Given the description of an element on the screen output the (x, y) to click on. 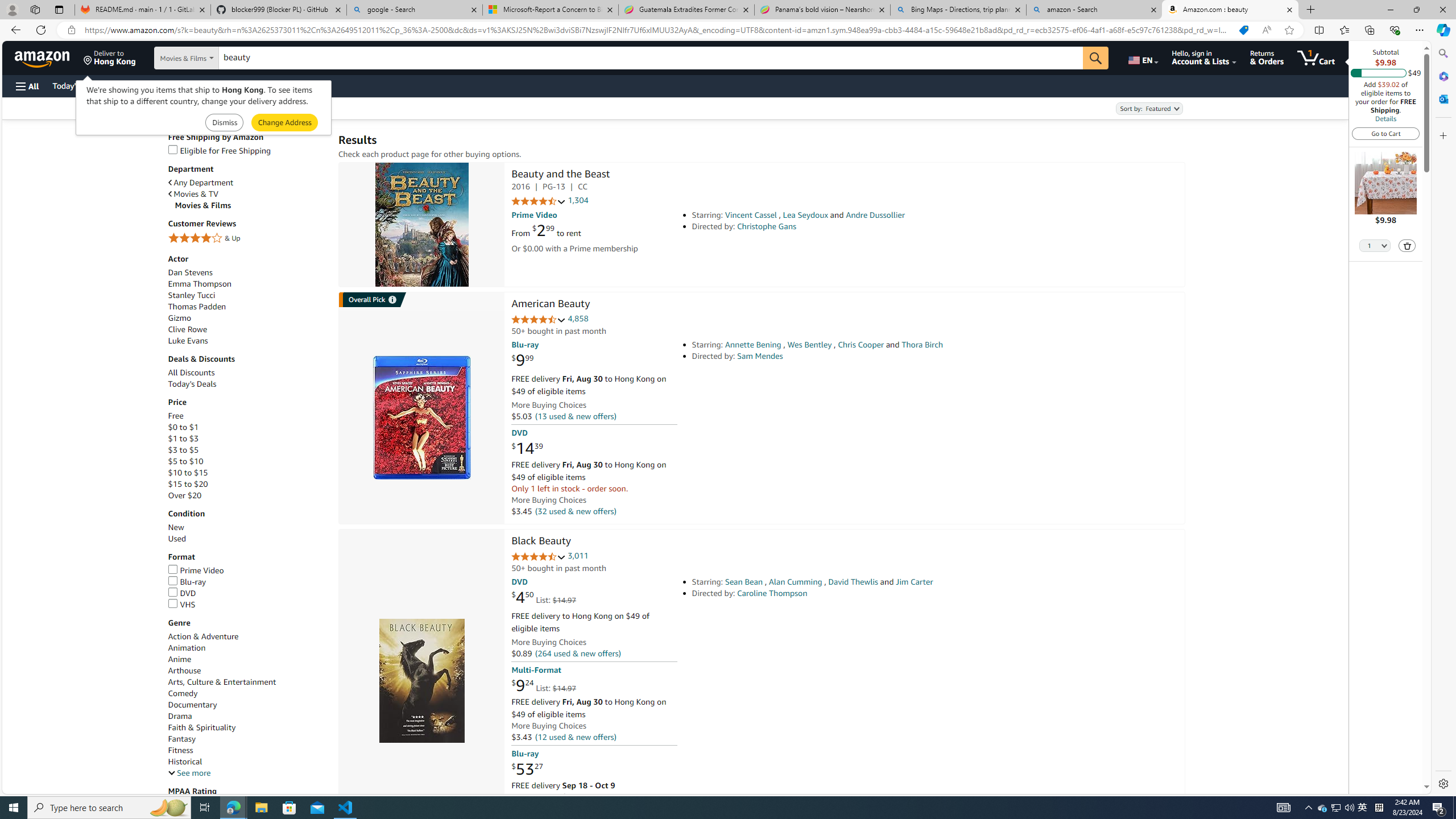
Go to Cart (1385, 133)
American Beauty (421, 417)
Over $20 (184, 495)
1,304 (577, 200)
Search in (210, 58)
Go (1096, 57)
Directed by: Christophe Gans (850, 226)
Prime Video (195, 570)
Stanley Tucci (247, 295)
Quantity Selector (1374, 245)
New (175, 527)
Clive Rowe (187, 329)
